Given the description of an element on the screen output the (x, y) to click on. 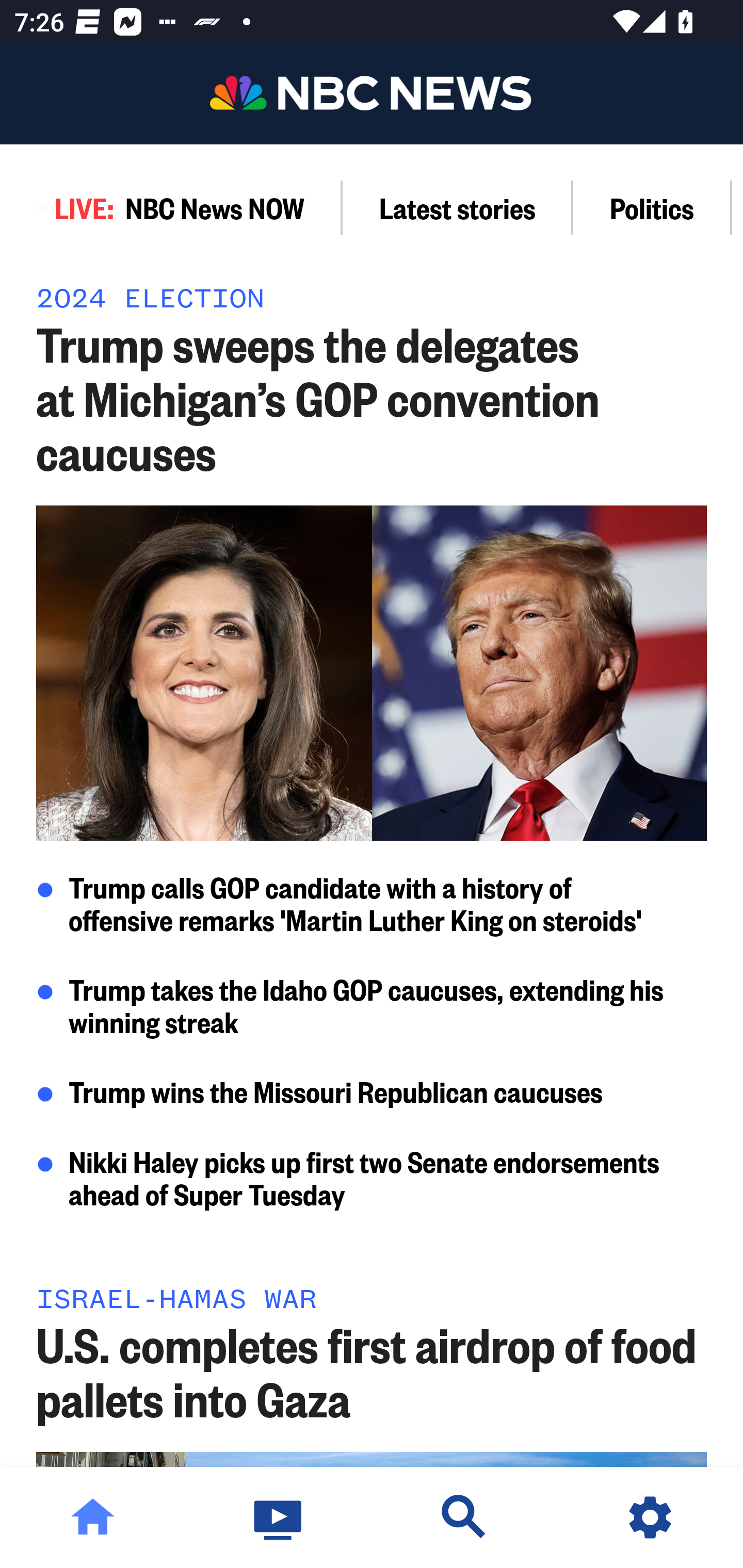
LIVE:  NBC News NOW (171, 207)
Latest stories Section,Latest stories (457, 207)
Politics Section,Politics (652, 207)
Watch (278, 1517)
Discover (464, 1517)
Settings (650, 1517)
